Given the description of an element on the screen output the (x, y) to click on. 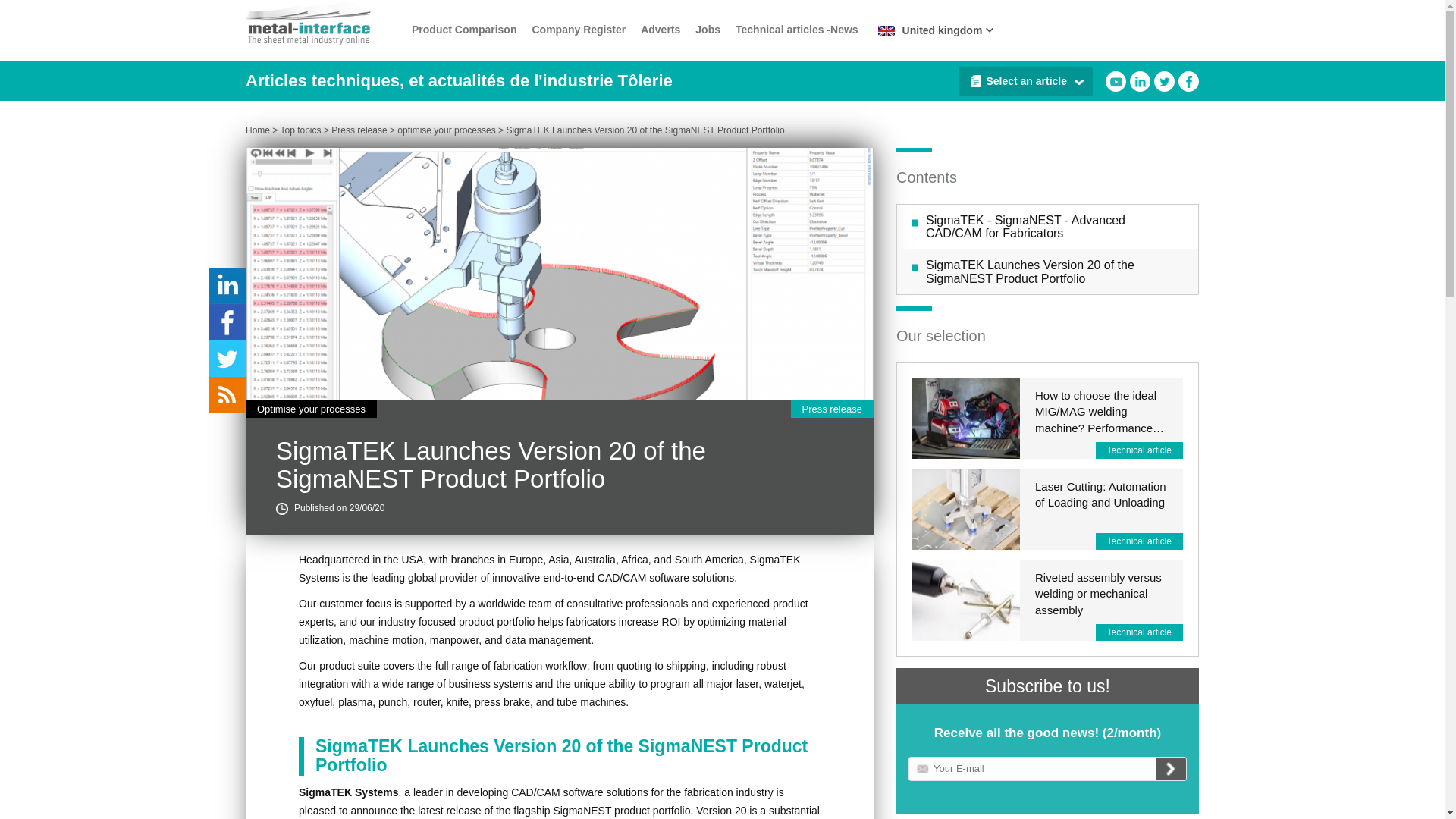
United kingdom (932, 30)
OK (1171, 768)
Adverts (659, 29)
Company Register (578, 29)
Jobs (707, 29)
Product Comparison (464, 29)
Technical articles -News (797, 29)
